Given the description of an element on the screen output the (x, y) to click on. 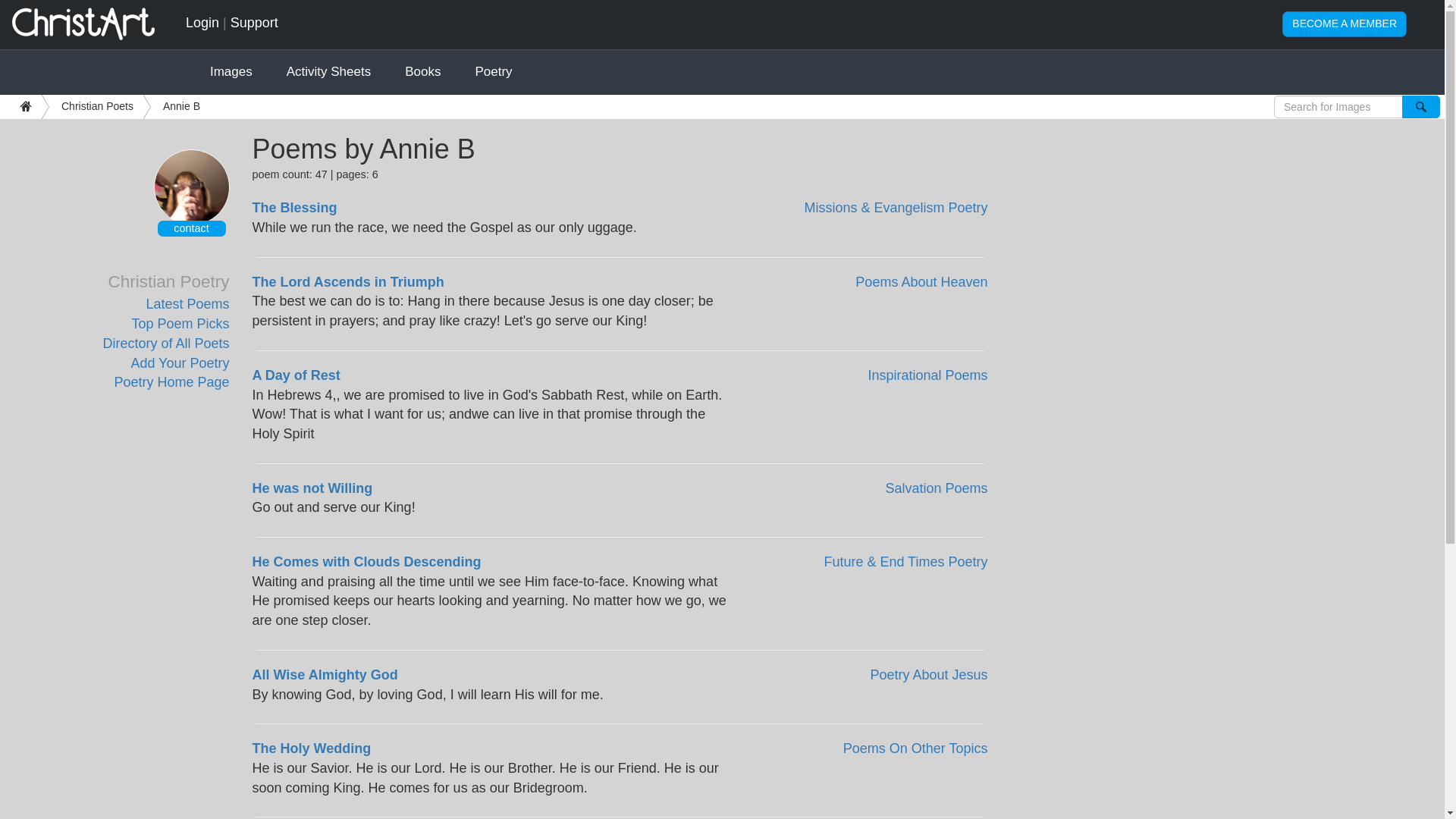
Poetry (493, 71)
Poetry About Jesus (928, 674)
All Wise Almighty God (324, 674)
The Lord Ascends in Triumph (347, 281)
BECOME A MEMBER (1344, 23)
Poems On Other Topics (915, 748)
Images (230, 71)
The Holy Wedding (311, 748)
Support (254, 22)
Inspirational Poems (927, 375)
Poems About Heaven (921, 281)
Annie B (175, 106)
A Day of Rest (295, 375)
Books (422, 71)
Login (202, 22)
